Given the description of an element on the screen output the (x, y) to click on. 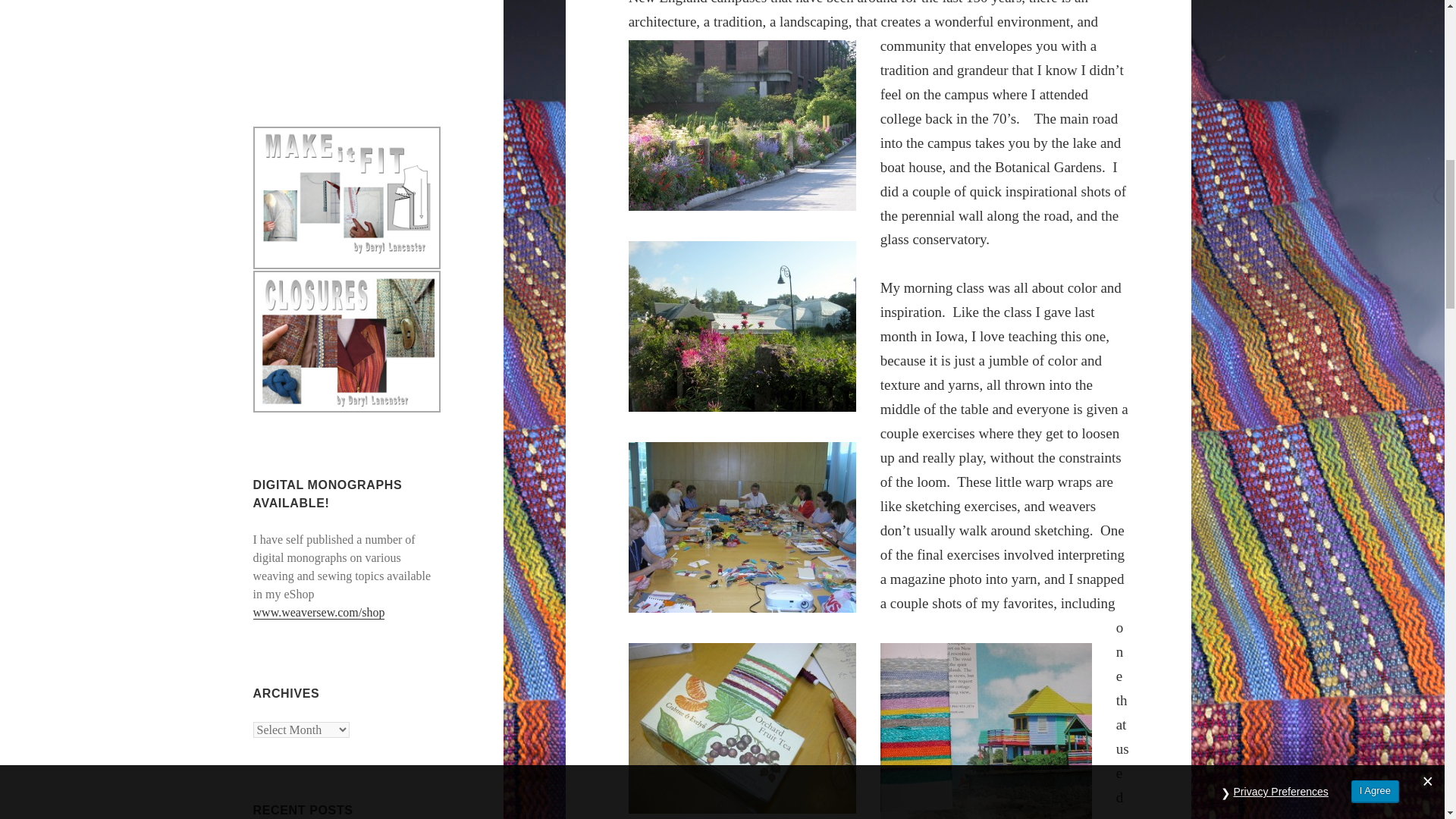
wrap2 (986, 730)
gardens2 (742, 325)
MysteryofFitThumbnail (347, 197)
tea (742, 728)
closuresdigitalcover (347, 341)
gardens1 (742, 125)
colorclass (742, 527)
